Given the description of an element on the screen output the (x, y) to click on. 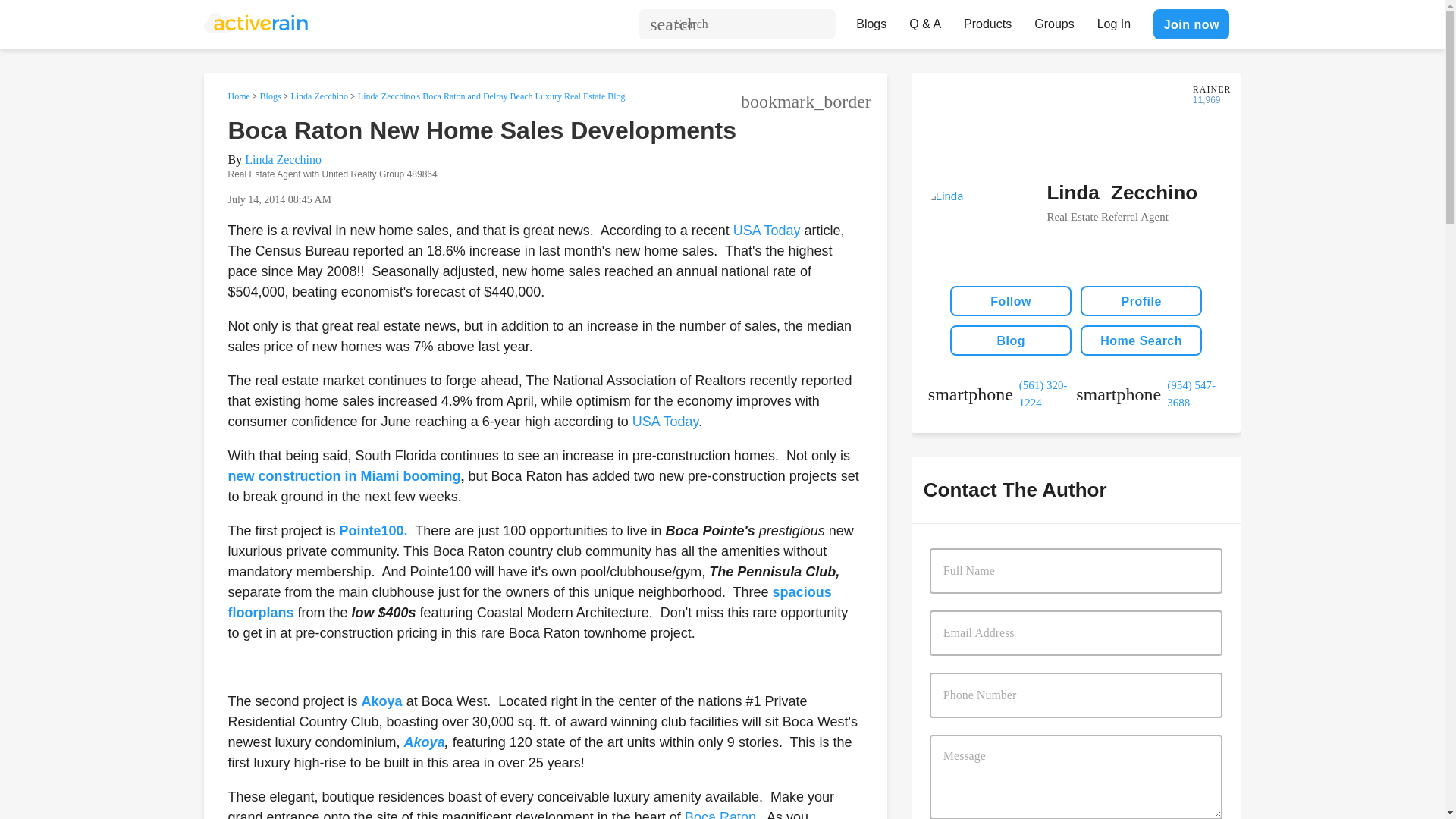
Akoya (424, 742)
Akoya (382, 701)
Home (237, 95)
Pointe100. (373, 530)
USA Today (769, 230)
Products (986, 19)
Blogs (870, 19)
cell (1149, 393)
Boca Raton. (722, 814)
